Given the description of an element on the screen output the (x, y) to click on. 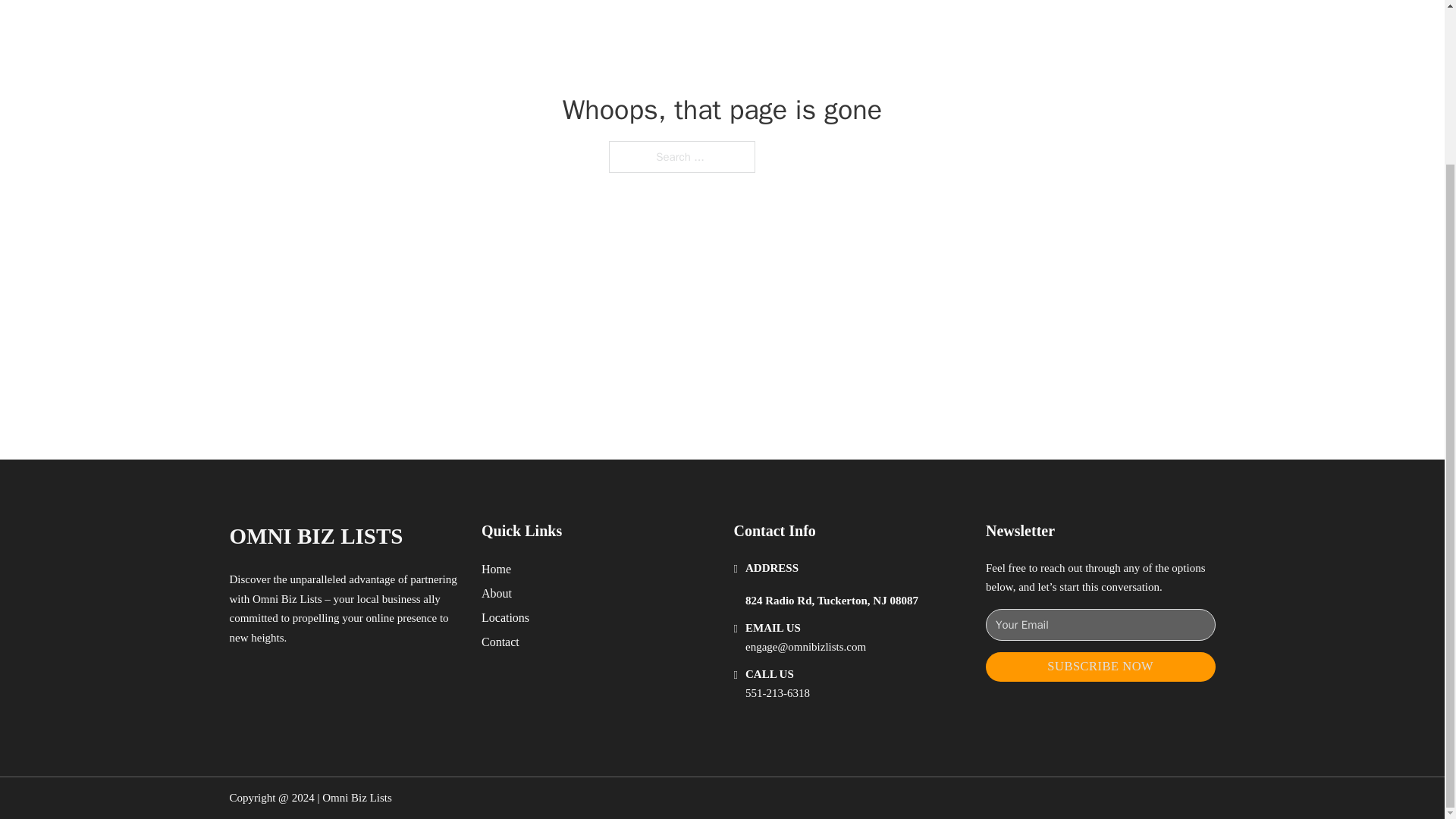
551-213-6318 (777, 693)
SUBSCRIBE NOW (1100, 666)
Home (496, 568)
About (496, 593)
OMNI BIZ LISTS (315, 536)
Contact (500, 641)
Locations (505, 617)
